Given the description of an element on the screen output the (x, y) to click on. 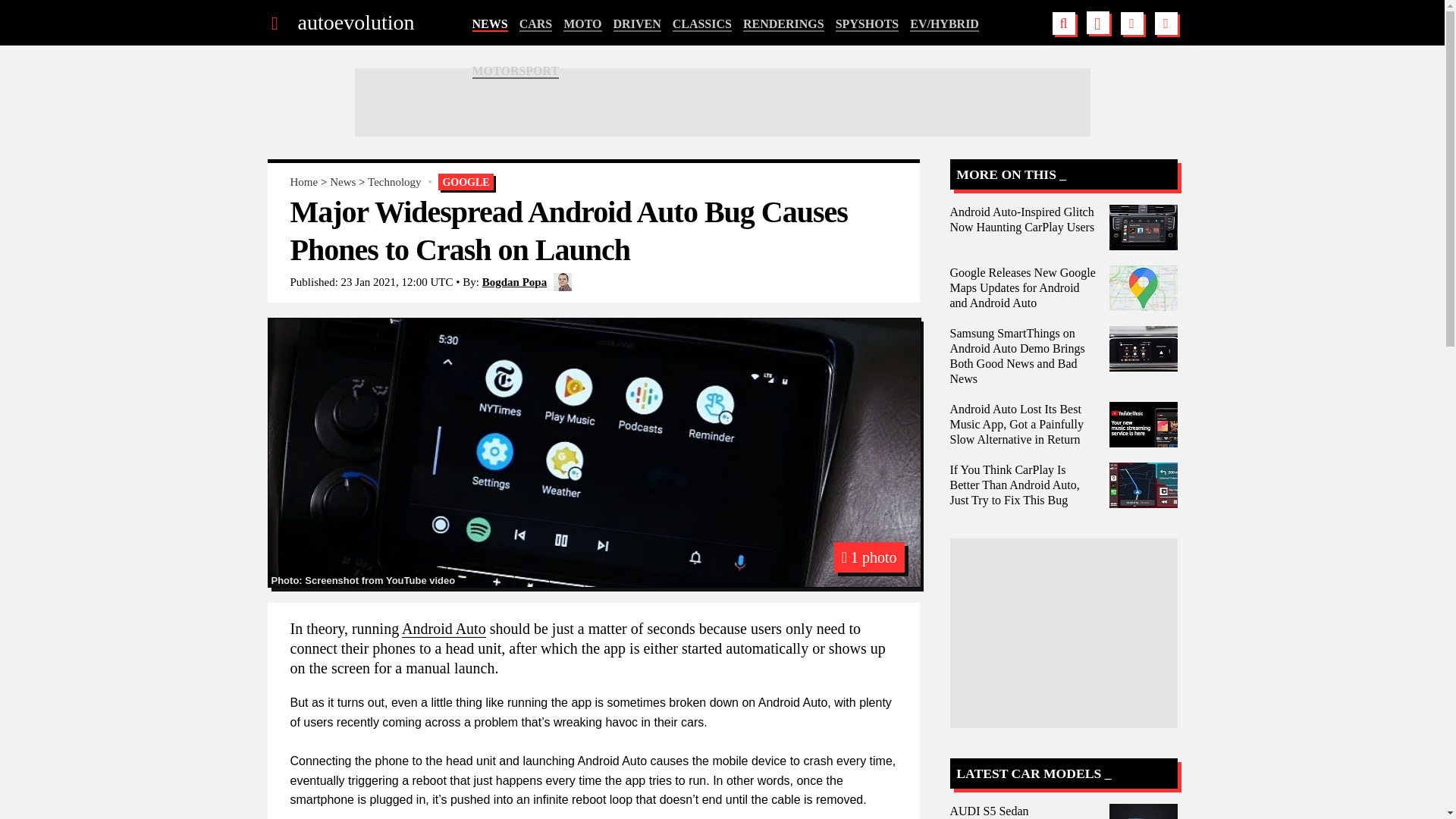
Home (303, 182)
NEWS (488, 24)
SPYSHOTS (867, 24)
RENDERINGS (783, 24)
News (342, 182)
autoevolution (355, 22)
Technology (395, 182)
MOTORSPORT (515, 71)
autoevolution (355, 22)
CARS (536, 24)
